Given the description of an element on the screen output the (x, y) to click on. 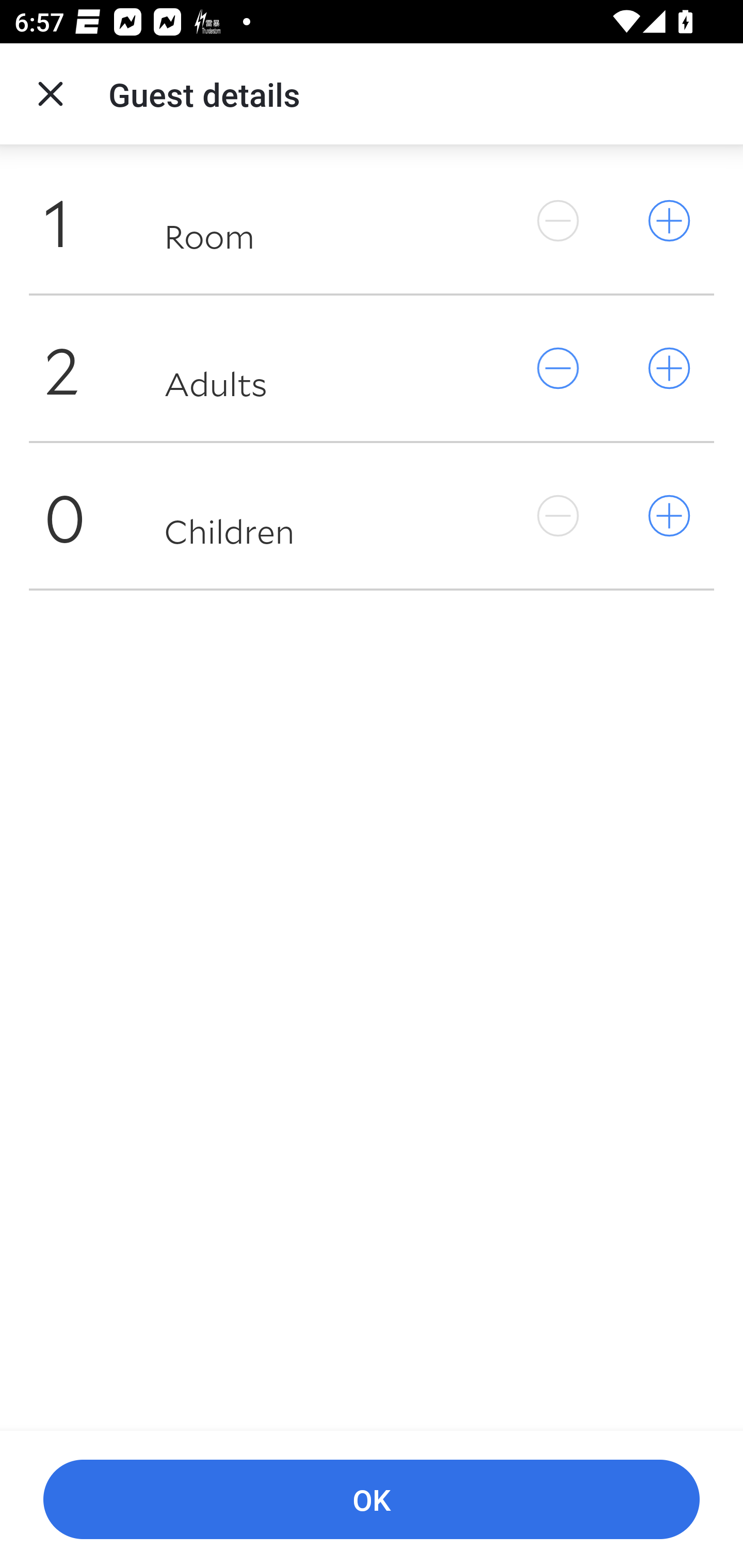
OK (371, 1499)
